Given the description of an element on the screen output the (x, y) to click on. 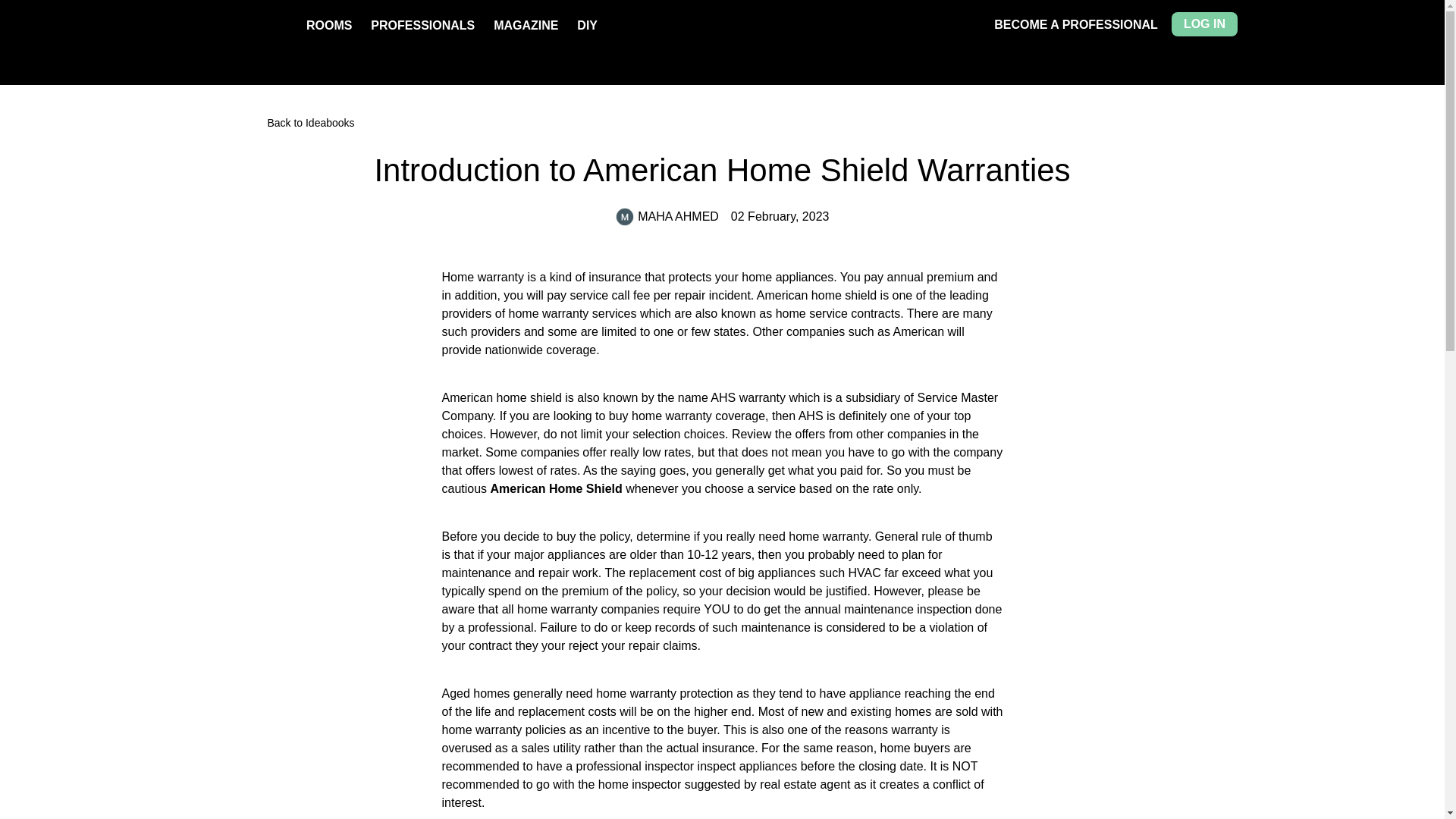
DIY (586, 25)
ROOMS (328, 25)
PROFESSIONALS (422, 25)
Back to Ideabooks (721, 122)
MAGAZINE (525, 25)
MAHA AHMED (667, 217)
LOG IN (1204, 24)
BECOME A PROFESSIONAL (1075, 23)
